Given the description of an element on the screen output the (x, y) to click on. 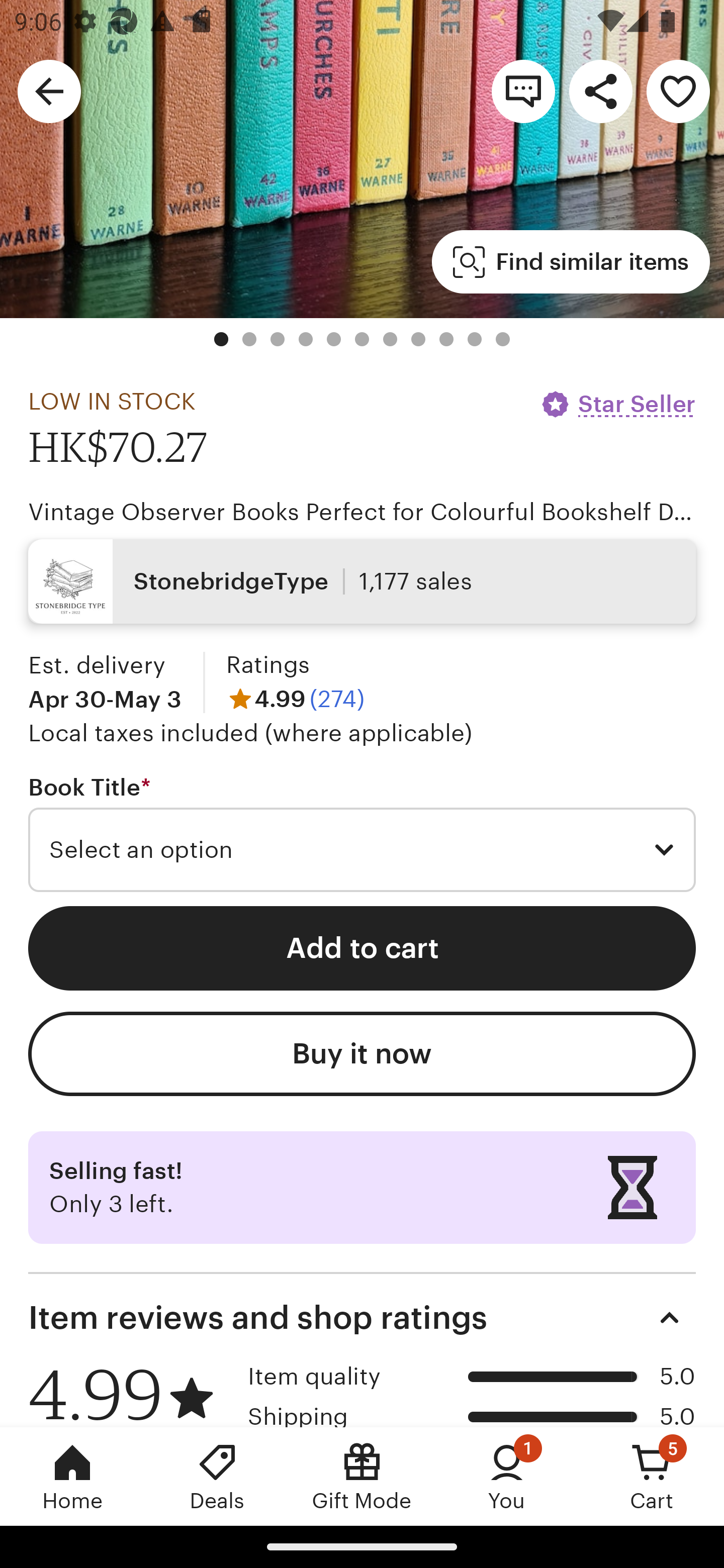
Navigate up (49, 90)
Contact shop (523, 90)
Share (600, 90)
Find similar items (571, 261)
Star Seller (617, 404)
StonebridgeType 1,177 sales (361, 581)
Ratings (267, 664)
4.99 (274) (294, 699)
Book Title * Required Select an option (361, 833)
Select an option (361, 849)
Add to cart (361, 948)
Buy it now (361, 1053)
Item reviews and shop ratings (362, 1317)
Deals (216, 1475)
Gift Mode (361, 1475)
You, 1 new notification You (506, 1475)
Cart, 5 new notifications Cart (651, 1475)
